Given the description of an element on the screen output the (x, y) to click on. 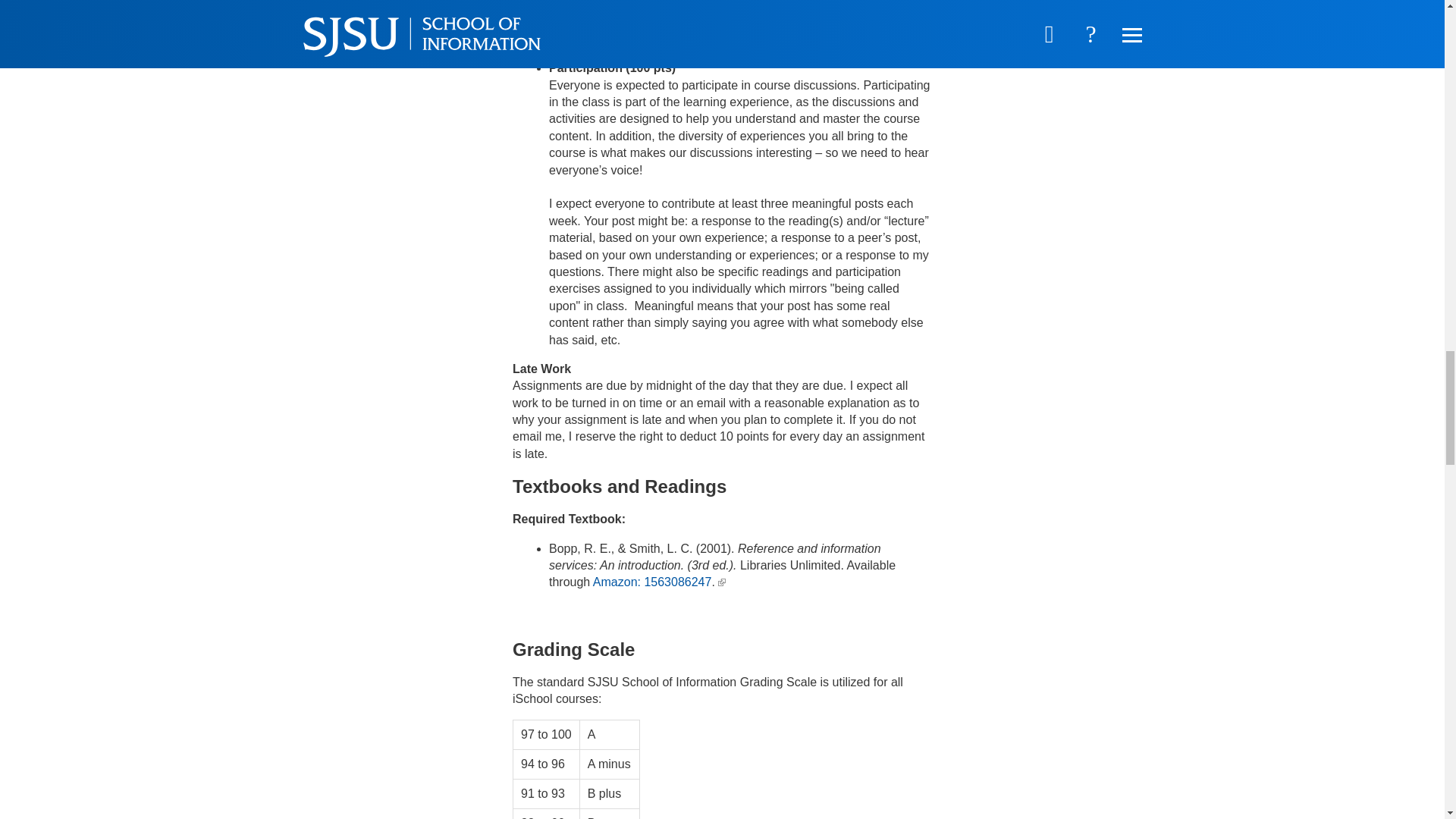
Amazon: 1563086247 (651, 581)
